Given the description of an element on the screen output the (x, y) to click on. 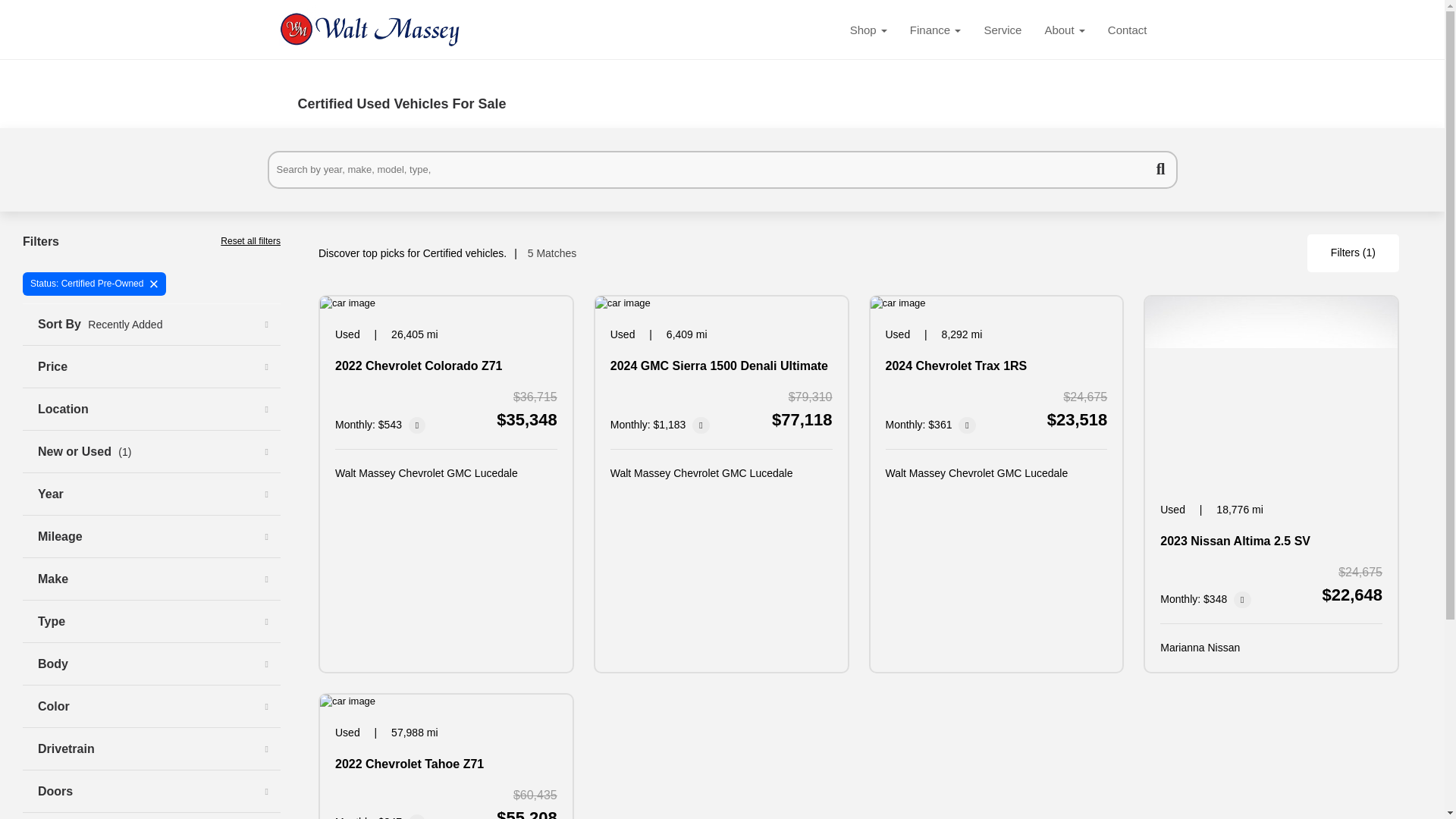
Finance (935, 30)
Service (1002, 30)
About (1064, 30)
Finance (935, 30)
Filters 1 (1353, 252)
About (1064, 30)
Shop (868, 30)
Shop (868, 30)
Contact (1127, 30)
Contact (1127, 30)
